Given the description of an element on the screen output the (x, y) to click on. 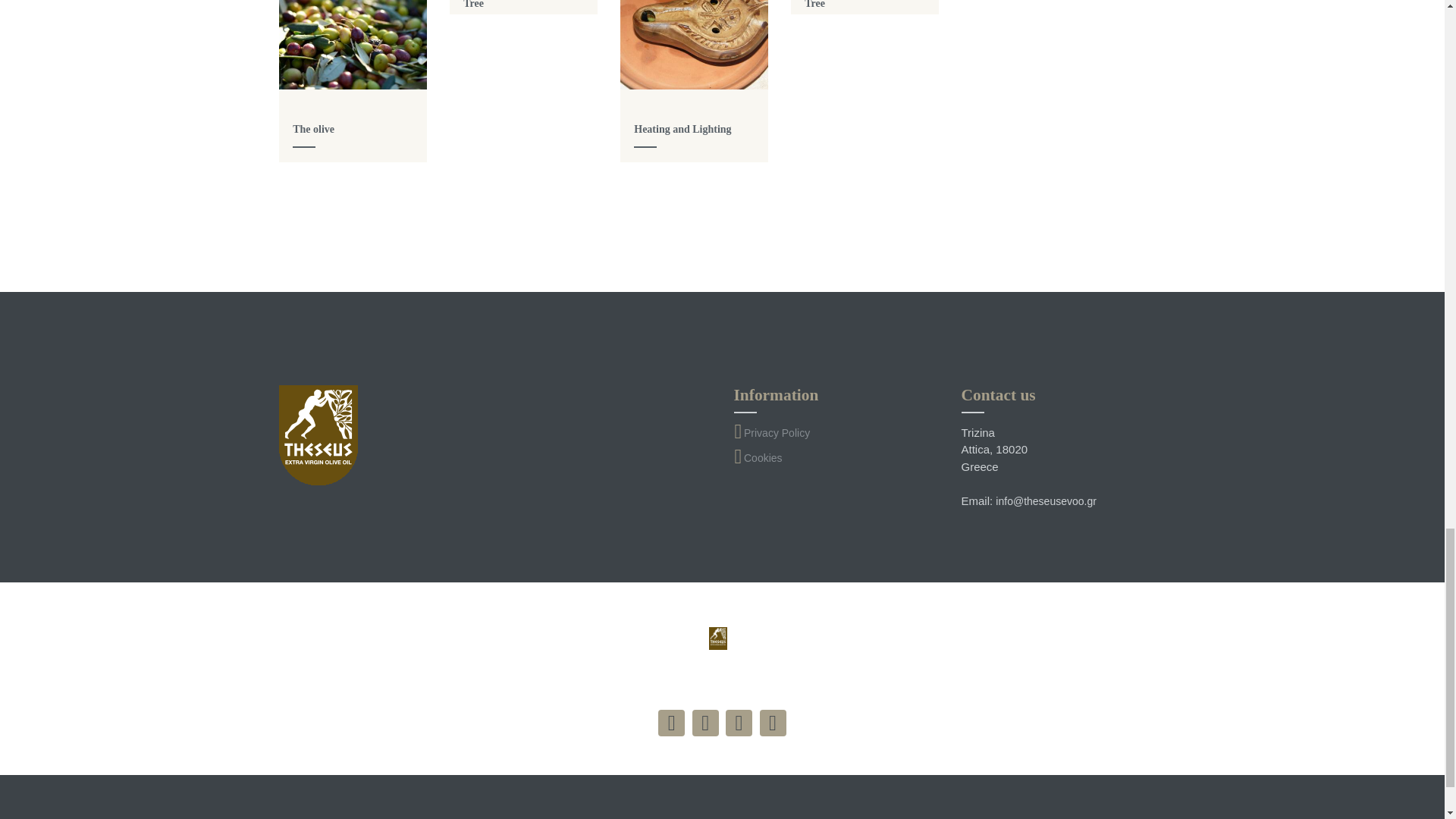
The olive (313, 129)
The Aura of the Olive Tree (512, 4)
Privacy Policy (776, 432)
Heating and Lighting (681, 129)
Cookies (763, 458)
The Culture of the Olive Tree (860, 4)
